Given the description of an element on the screen output the (x, y) to click on. 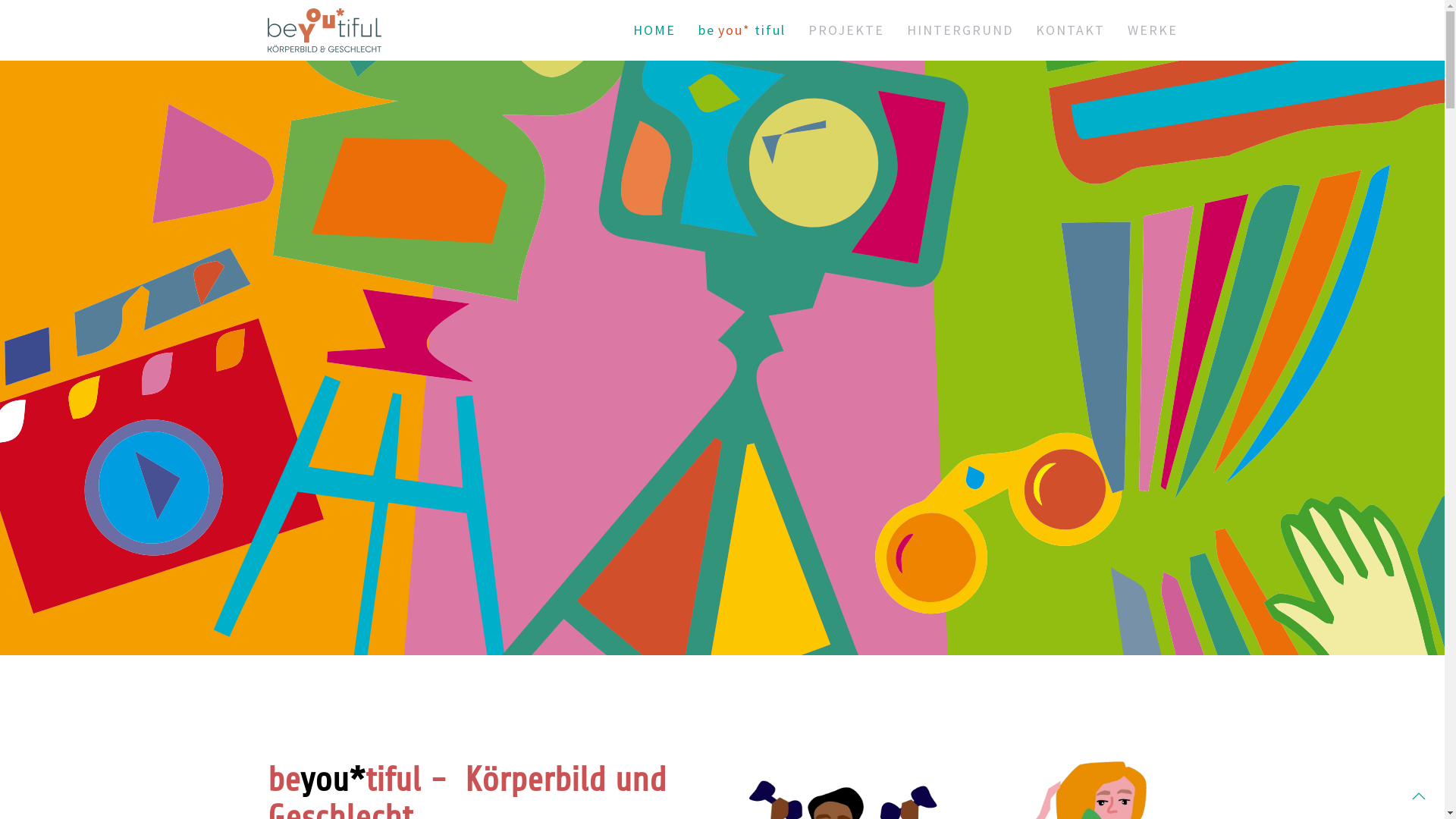
WERKE Element type: text (1151, 30)
KONTAKT Element type: text (1069, 30)
PROJEKTE Element type: text (846, 30)
HOME Element type: text (653, 30)
HINTERGRUND Element type: text (959, 30)
be
you*
tiful Element type: text (740, 30)
